Given the description of an element on the screen output the (x, y) to click on. 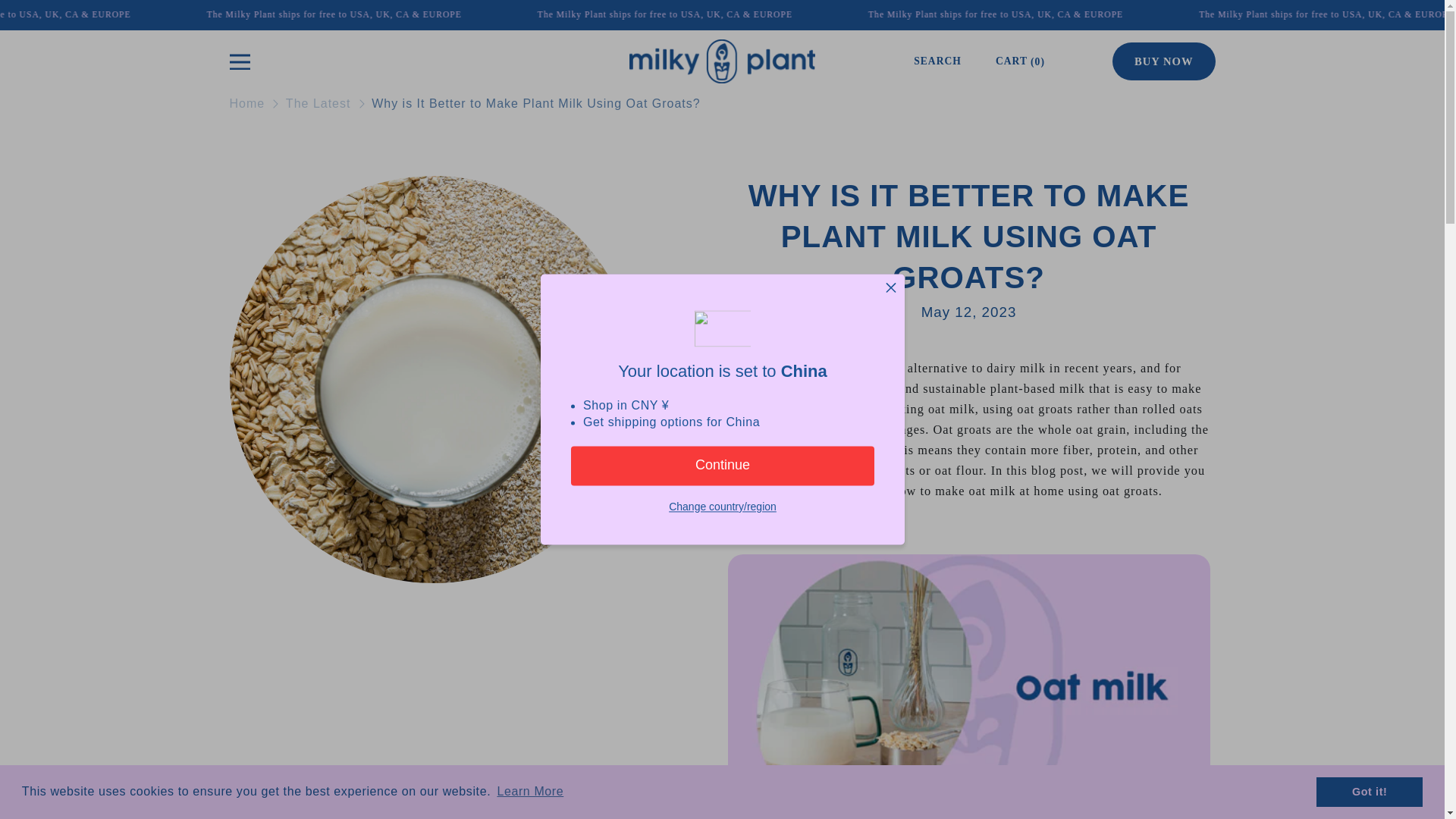
Continue (721, 465)
Got it! (1369, 791)
Learn More (530, 791)
Skip to content (45, 17)
